Given the description of an element on the screen output the (x, y) to click on. 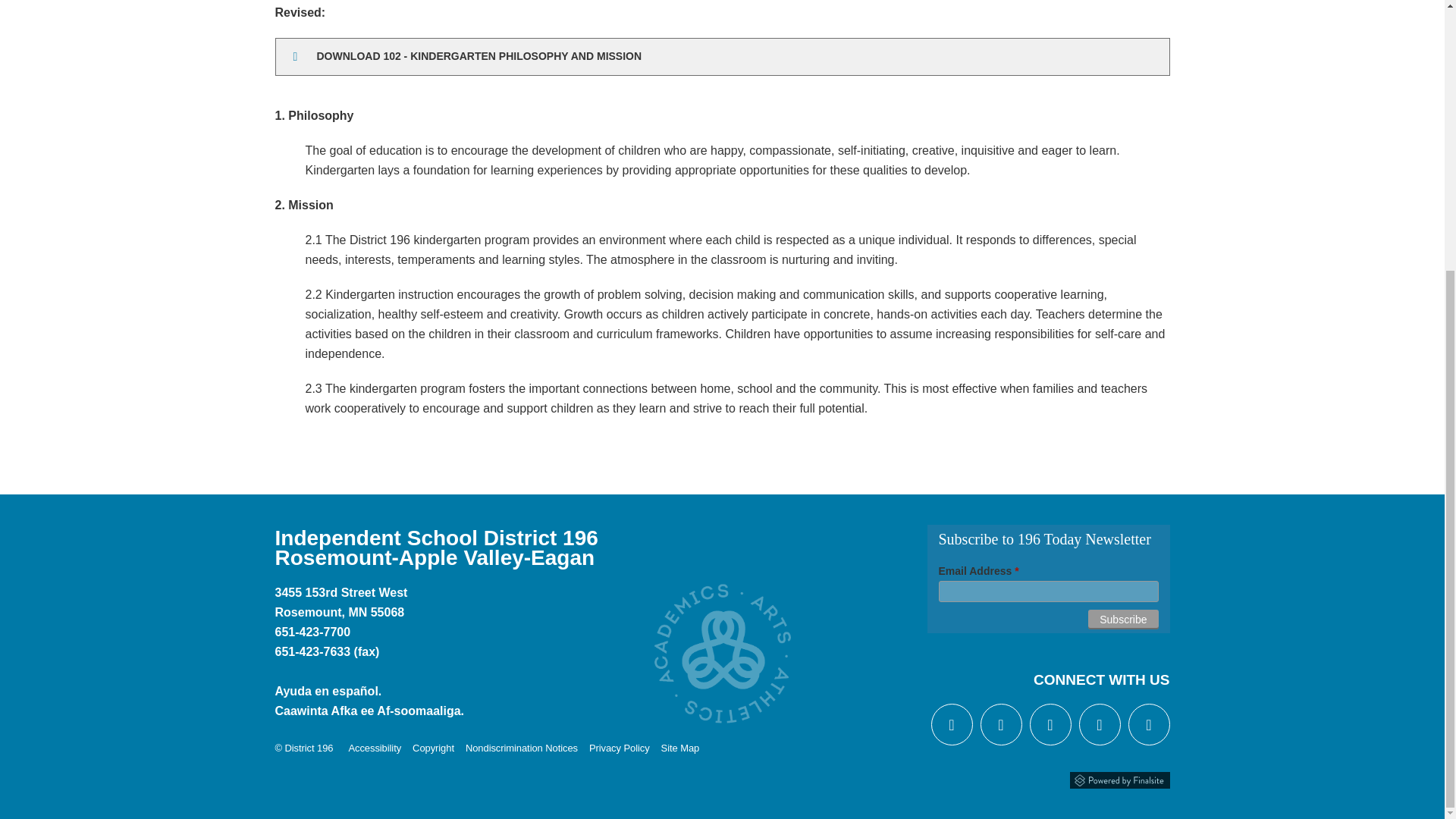
Powered by Finalsite opens in a new window (1118, 777)
Subscribe (1122, 619)
